Given the description of an element on the screen output the (x, y) to click on. 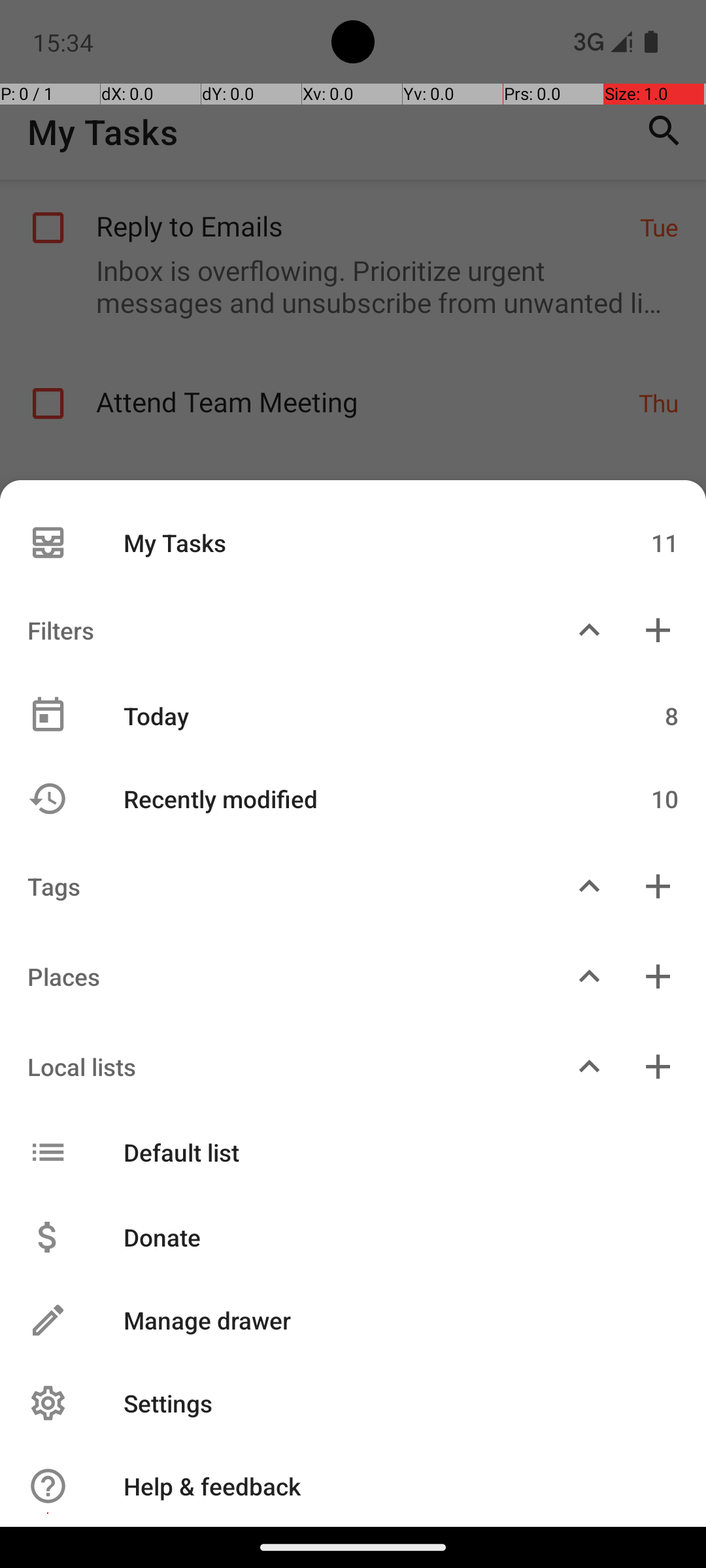
My Tasks Element type: android.widget.CheckedTextView (344, 542)
Filters Element type: android.widget.TextView (277, 630)
Recently modified Element type: android.widget.CheckedTextView (344, 798)
Tags Element type: android.widget.TextView (277, 886)
Places Element type: android.widget.TextView (277, 976)
Local lists Element type: android.widget.TextView (277, 1066)
Default list Element type: android.widget.CheckedTextView (344, 1151)
Donate Element type: android.widget.TextView (387, 1236)
Manage drawer Element type: android.widget.TextView (387, 1319)
